Given the description of an element on the screen output the (x, y) to click on. 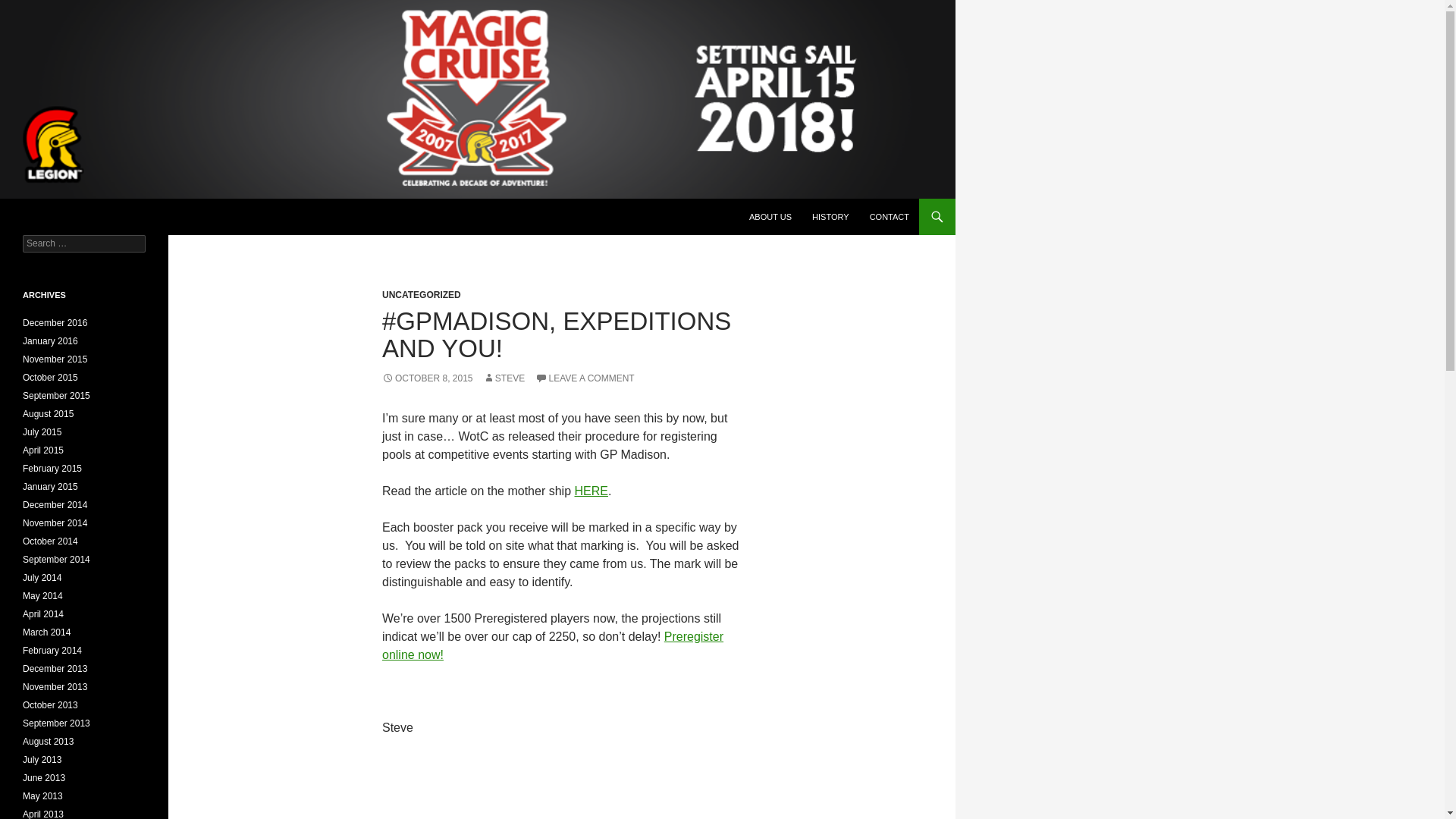
October 2015 (50, 377)
HERE (590, 490)
CONTACT (889, 217)
November 2014 (55, 522)
November 2015 (55, 358)
July 2015 (42, 431)
December 2016 (55, 322)
October 2014 (50, 541)
December 2014 (55, 504)
January 2015 (50, 486)
September 2014 (56, 559)
OCTOBER 8, 2015 (427, 378)
September 2015 (56, 395)
April 2015 (43, 450)
